Given the description of an element on the screen output the (x, y) to click on. 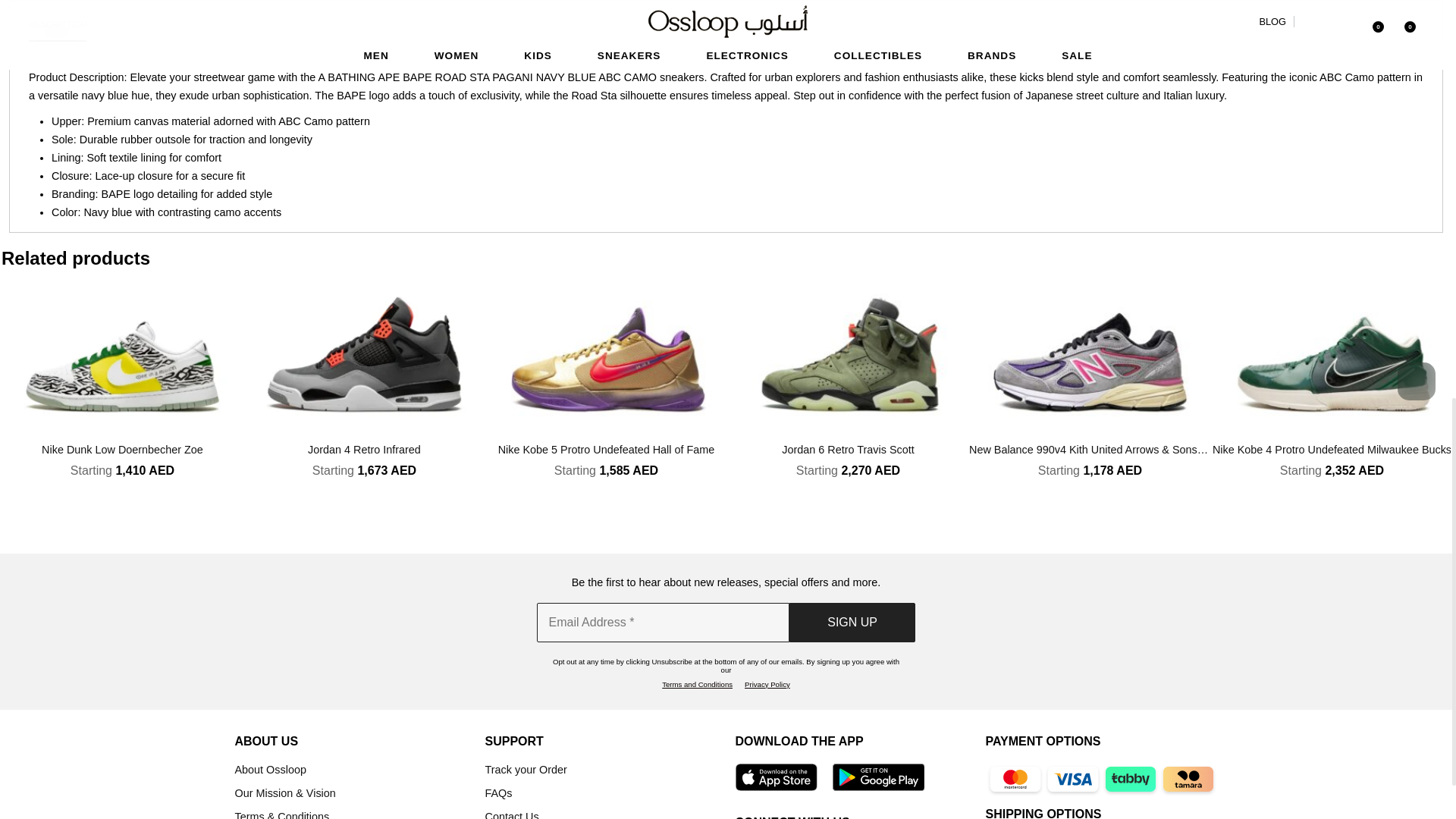
Download from Play Store (878, 778)
Download from App Store (775, 778)
